Given the description of an element on the screen output the (x, y) to click on. 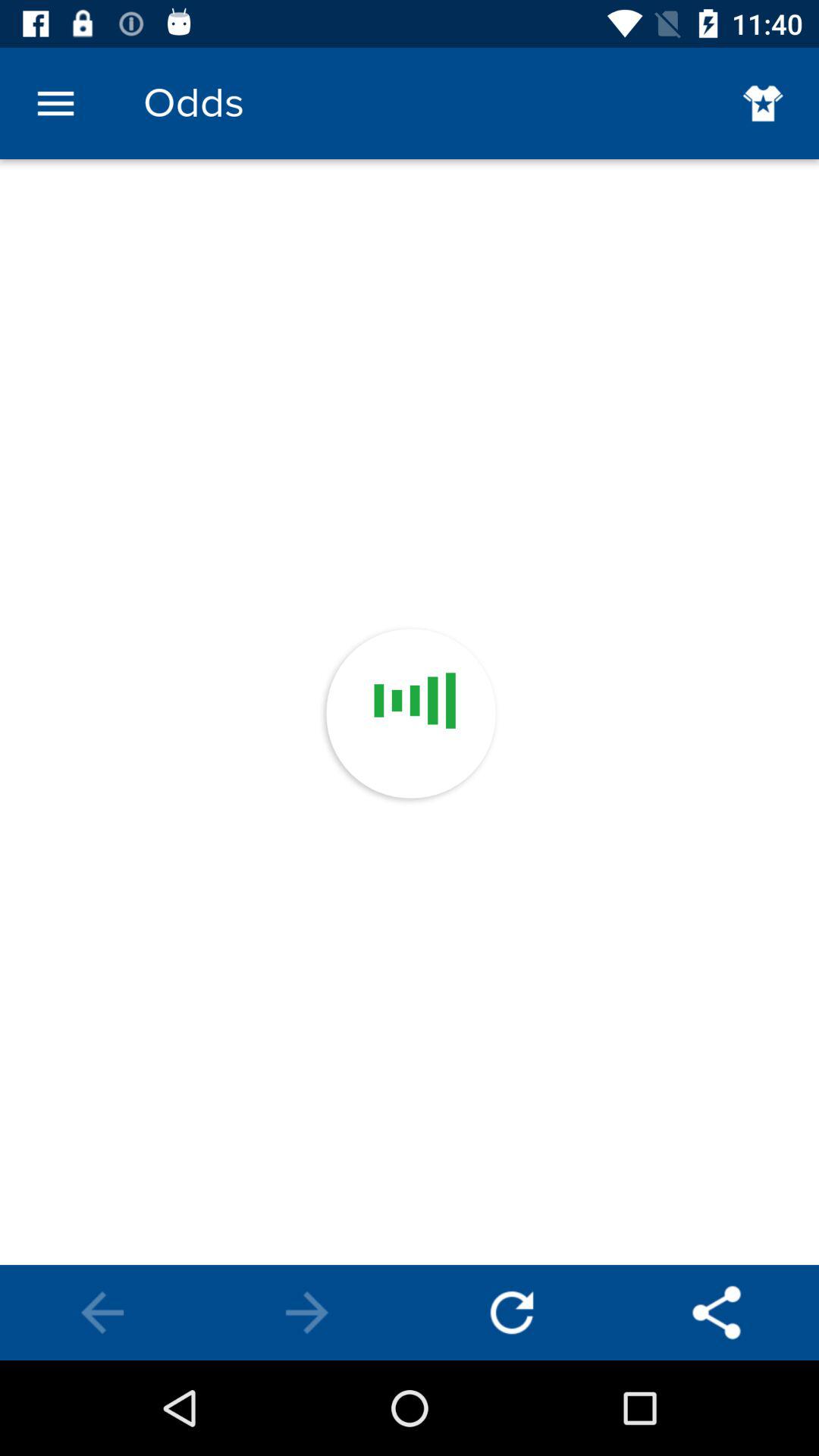
go to previous screen (102, 1312)
